Given the description of an element on the screen output the (x, y) to click on. 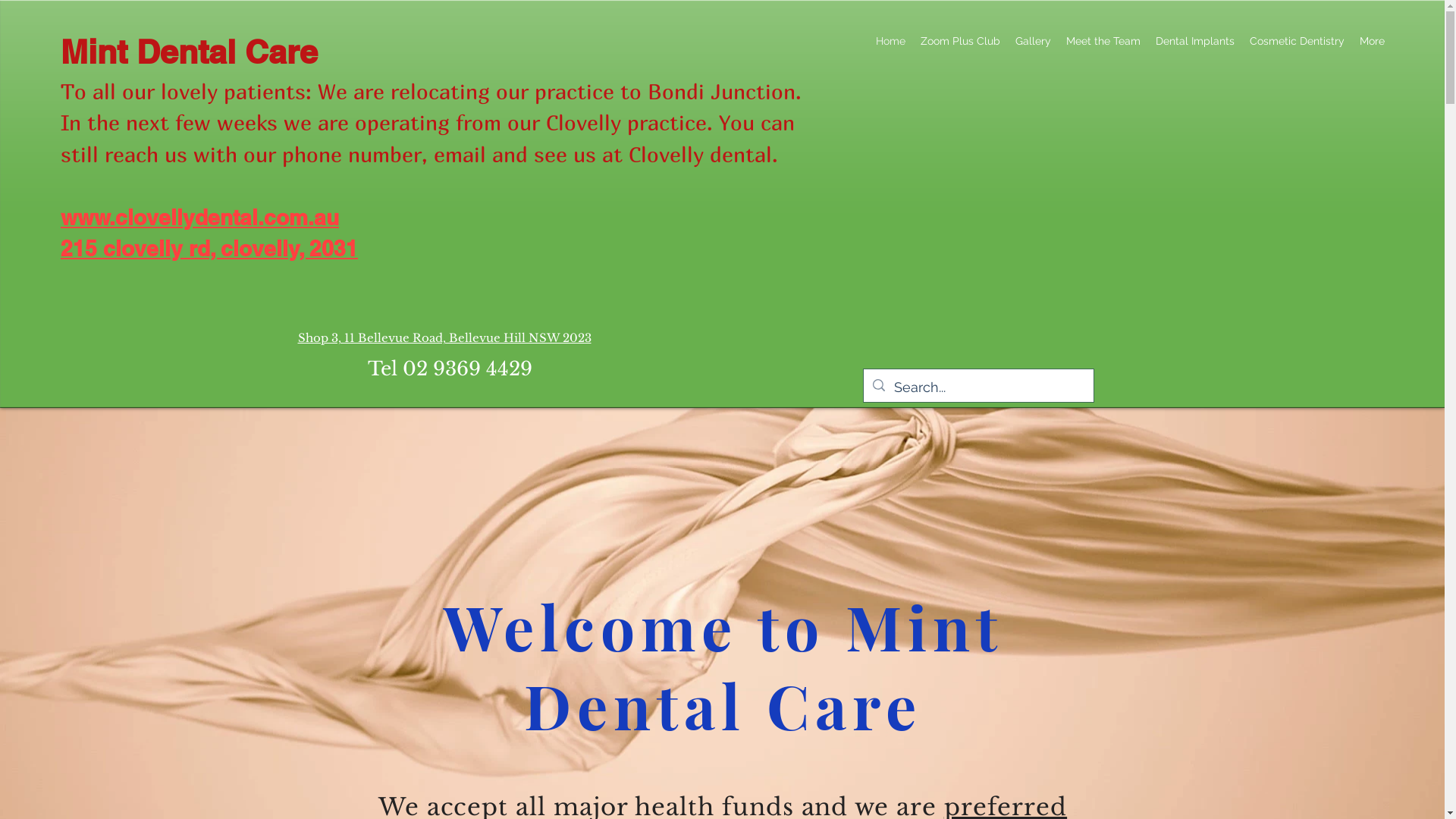
Zoom Plus Club Element type: text (960, 40)
Meet the Team Element type: text (1103, 40)
Gallery Element type: text (1032, 40)
Mint Dental Care Element type: text (188, 51)
Dental Implants Element type: text (1195, 40)
www.clovellydental.com.au Element type: text (199, 216)
Home Element type: text (890, 40)
Shop 3, 11 Bellevue Road, Bellevue Hill NSW 2023 Element type: text (443, 337)
Cosmetic Dentistry Element type: text (1297, 40)
